Given the description of an element on the screen output the (x, y) to click on. 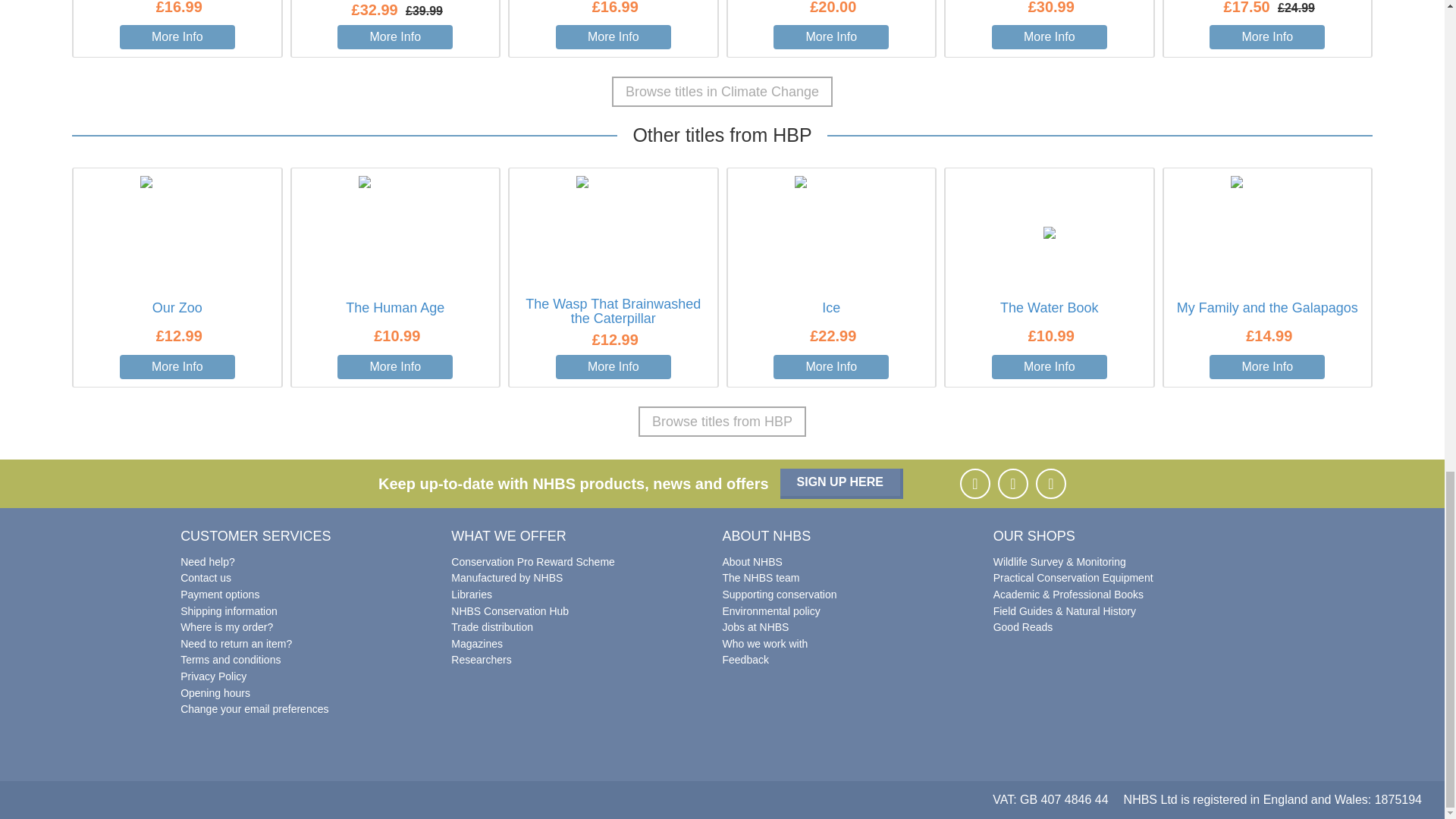
Follow us on Instagram (1012, 483)
Follow us on Facebook (974, 483)
Follow us on Twitter (1050, 483)
Sign up here (841, 483)
